Given the description of an element on the screen output the (x, y) to click on. 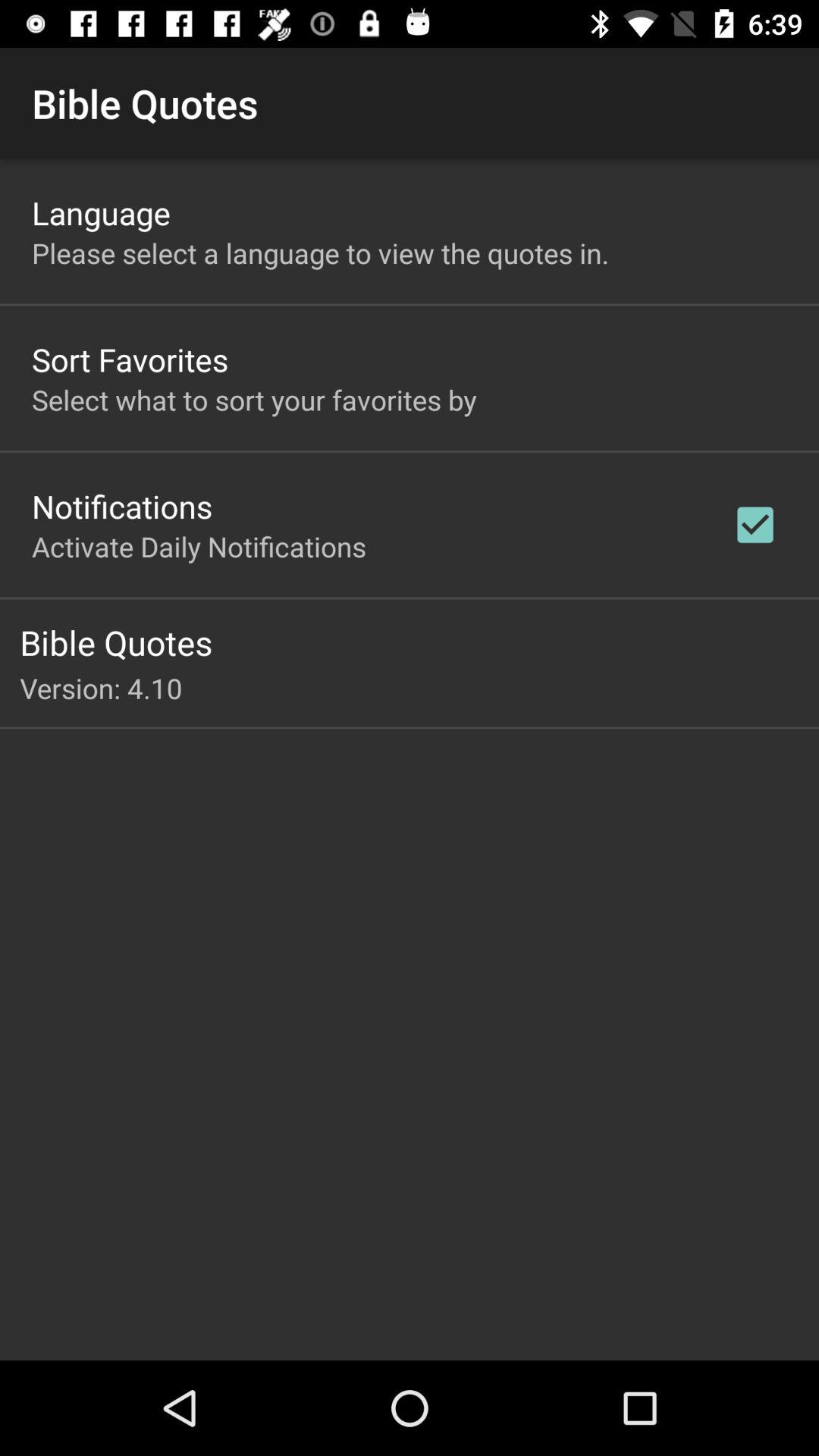
select the icon below notifications (198, 546)
